Given the description of an element on the screen output the (x, y) to click on. 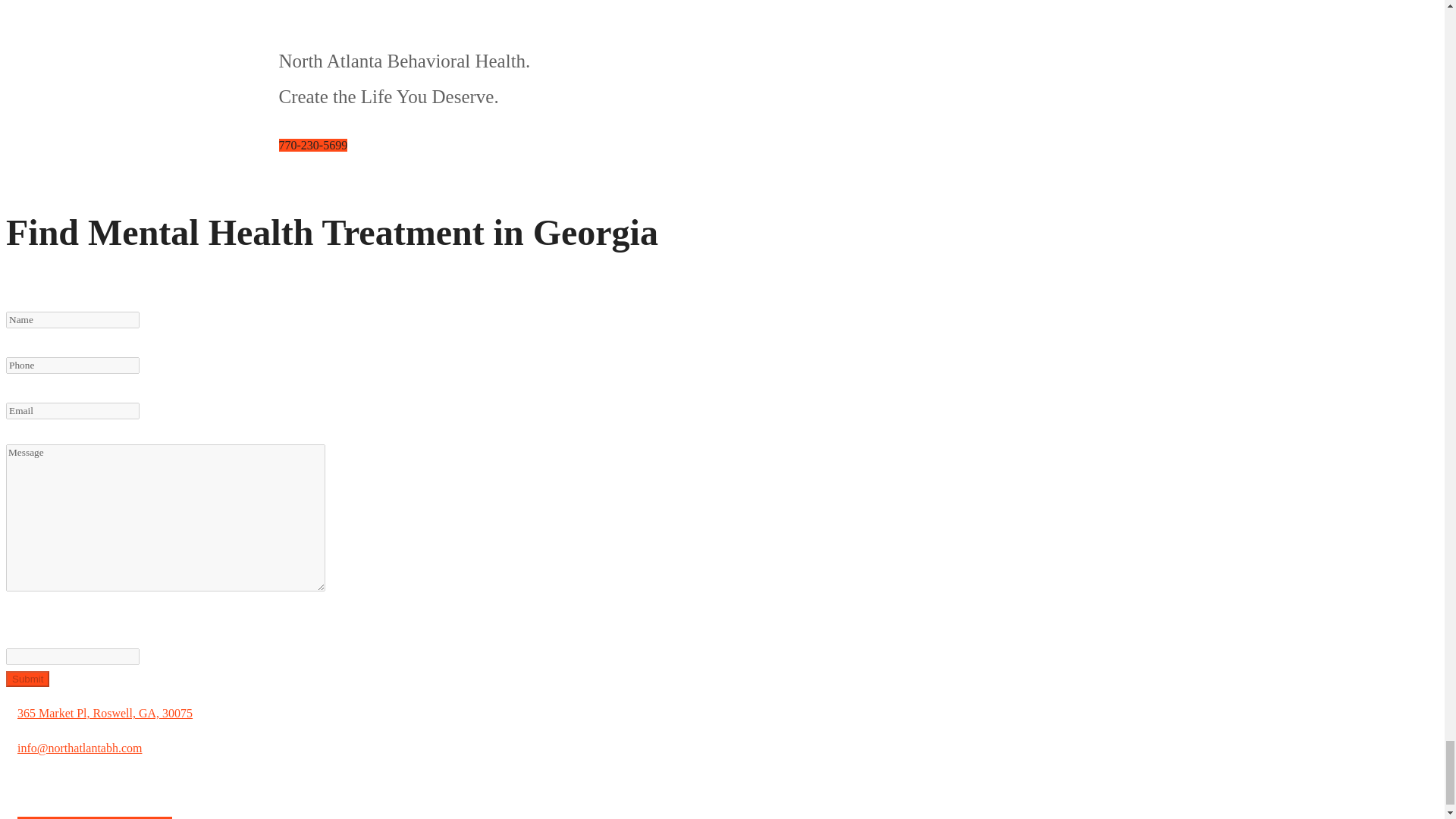
Submit (27, 678)
